Given the description of an element on the screen output the (x, y) to click on. 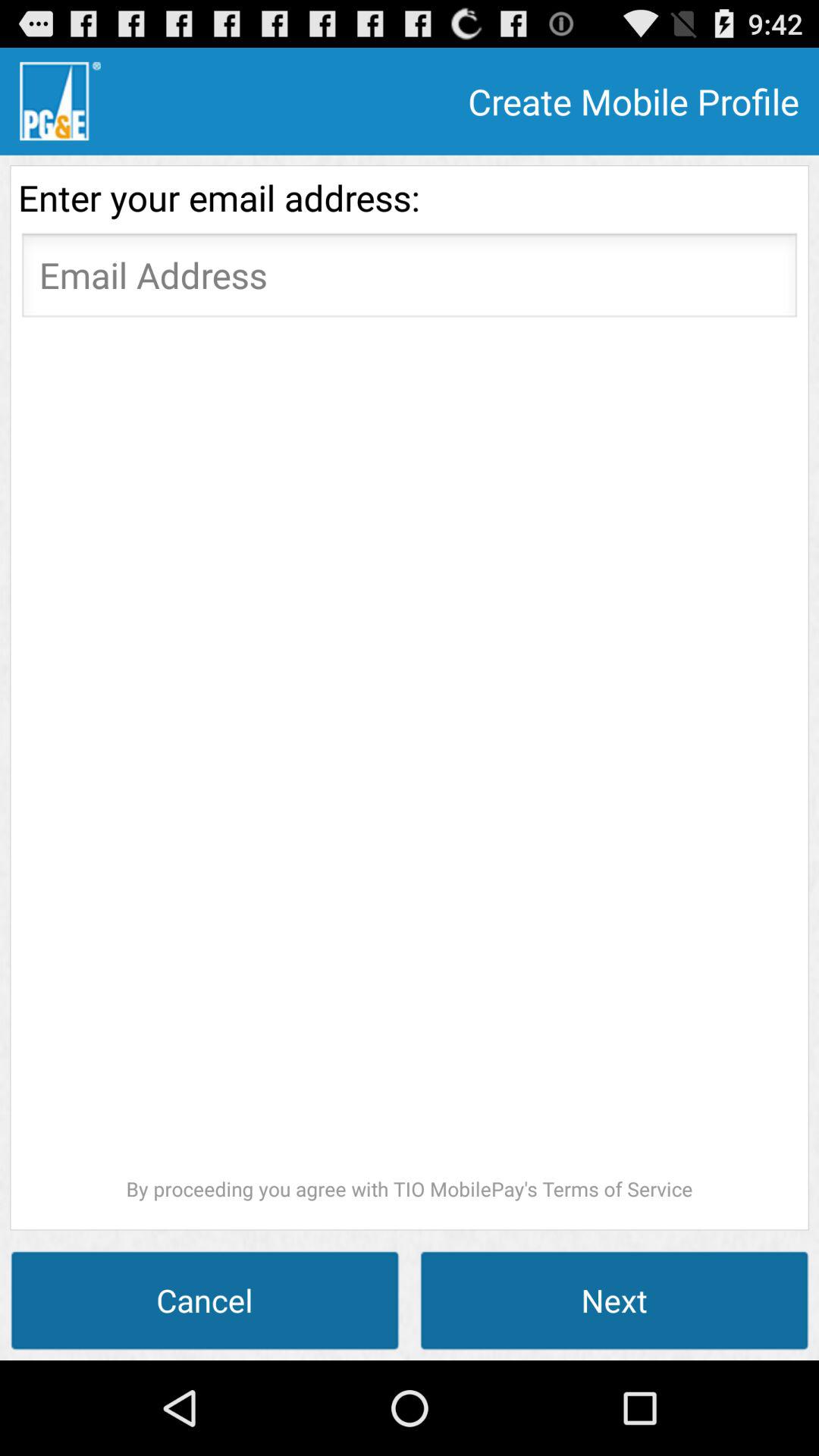
flip to the next item (613, 1300)
